Given the description of an element on the screen output the (x, y) to click on. 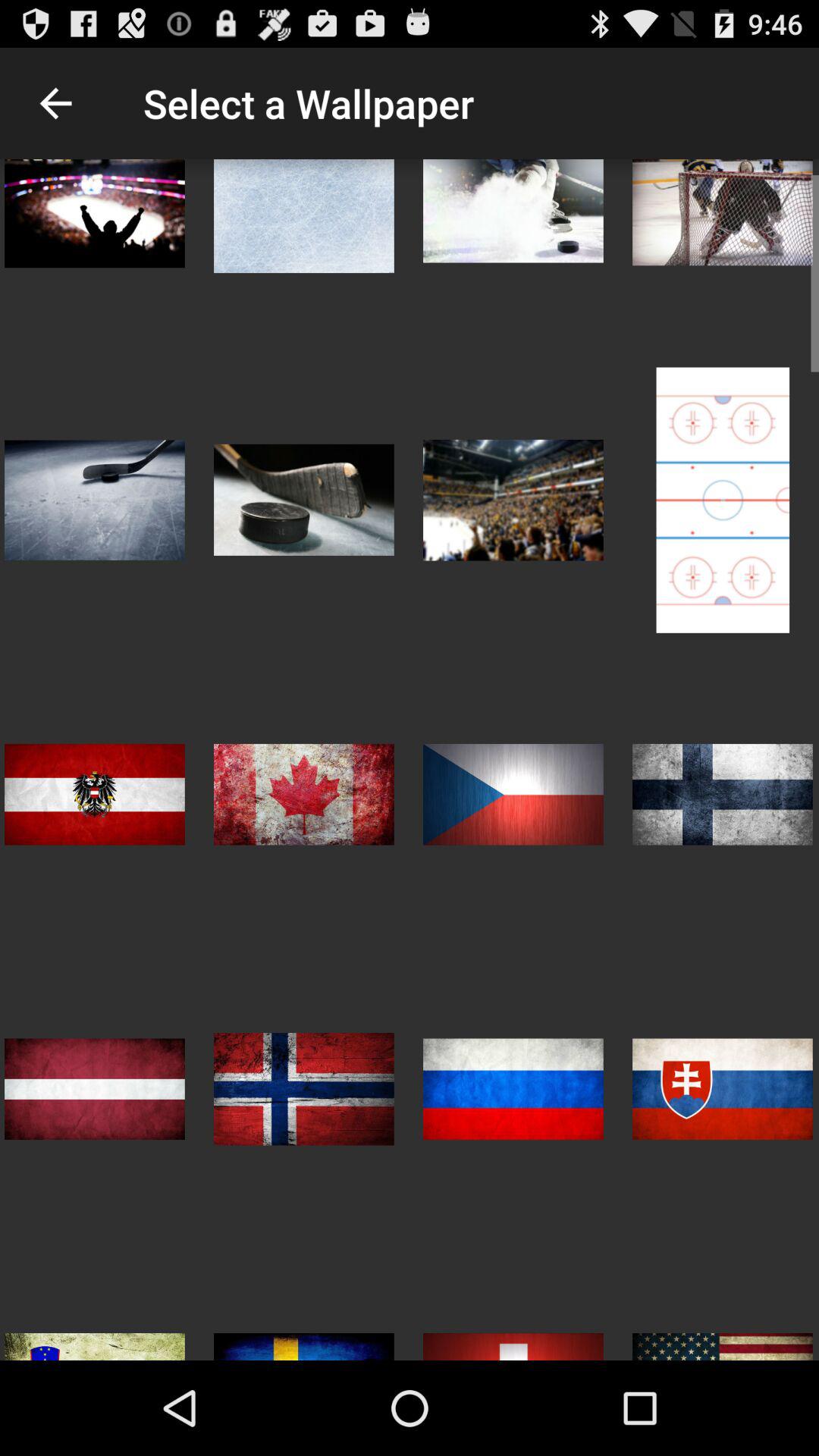
open app next to select a wallpaper (55, 103)
